Given the description of an element on the screen output the (x, y) to click on. 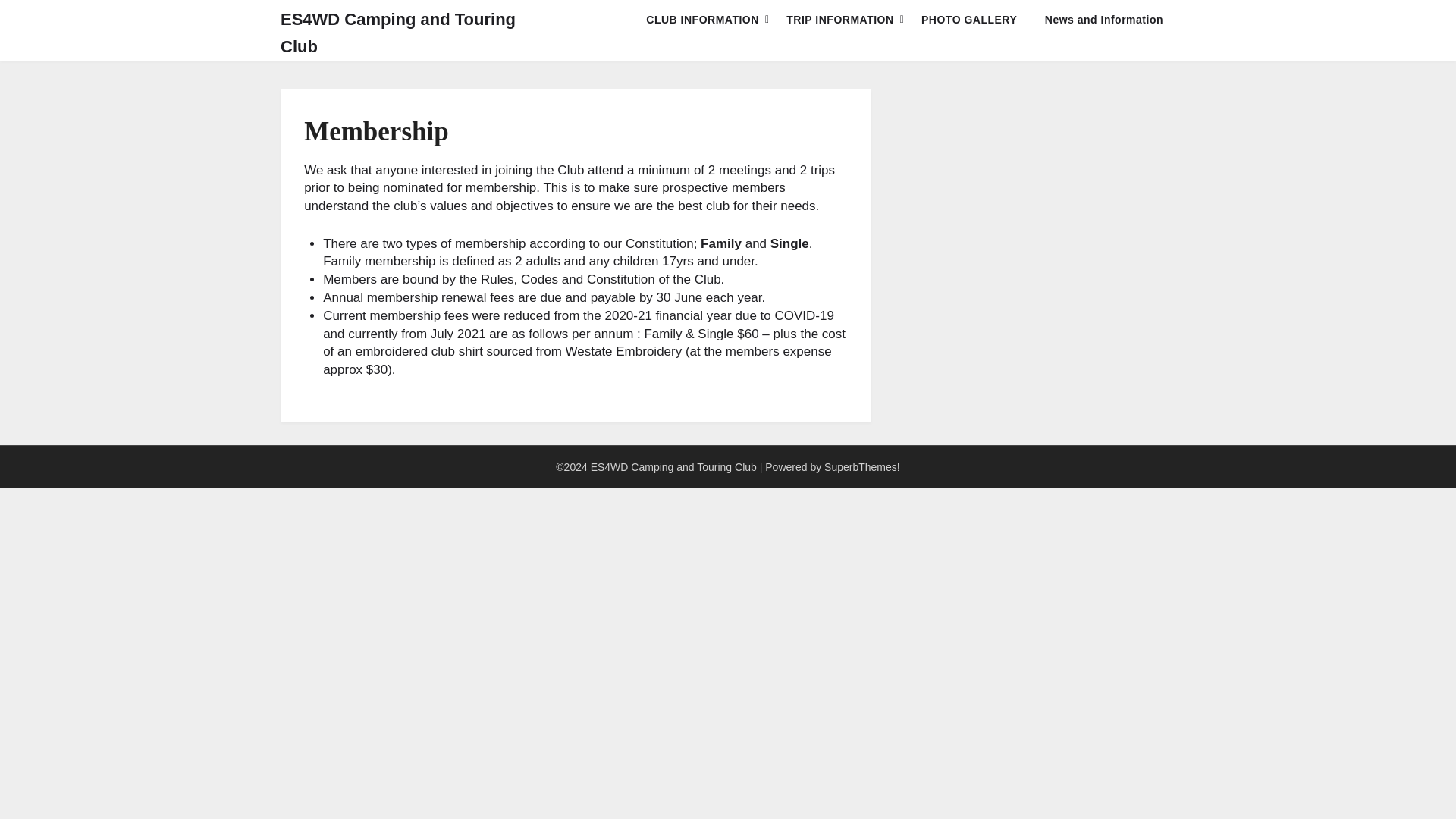
TRIP INFORMATION (839, 20)
ES4WD Camping and Touring Club (414, 32)
CLUB INFORMATION (702, 20)
News and Information (1103, 20)
SuperbThemes! (861, 467)
PHOTO GALLERY (968, 20)
